Given the description of an element on the screen output the (x, y) to click on. 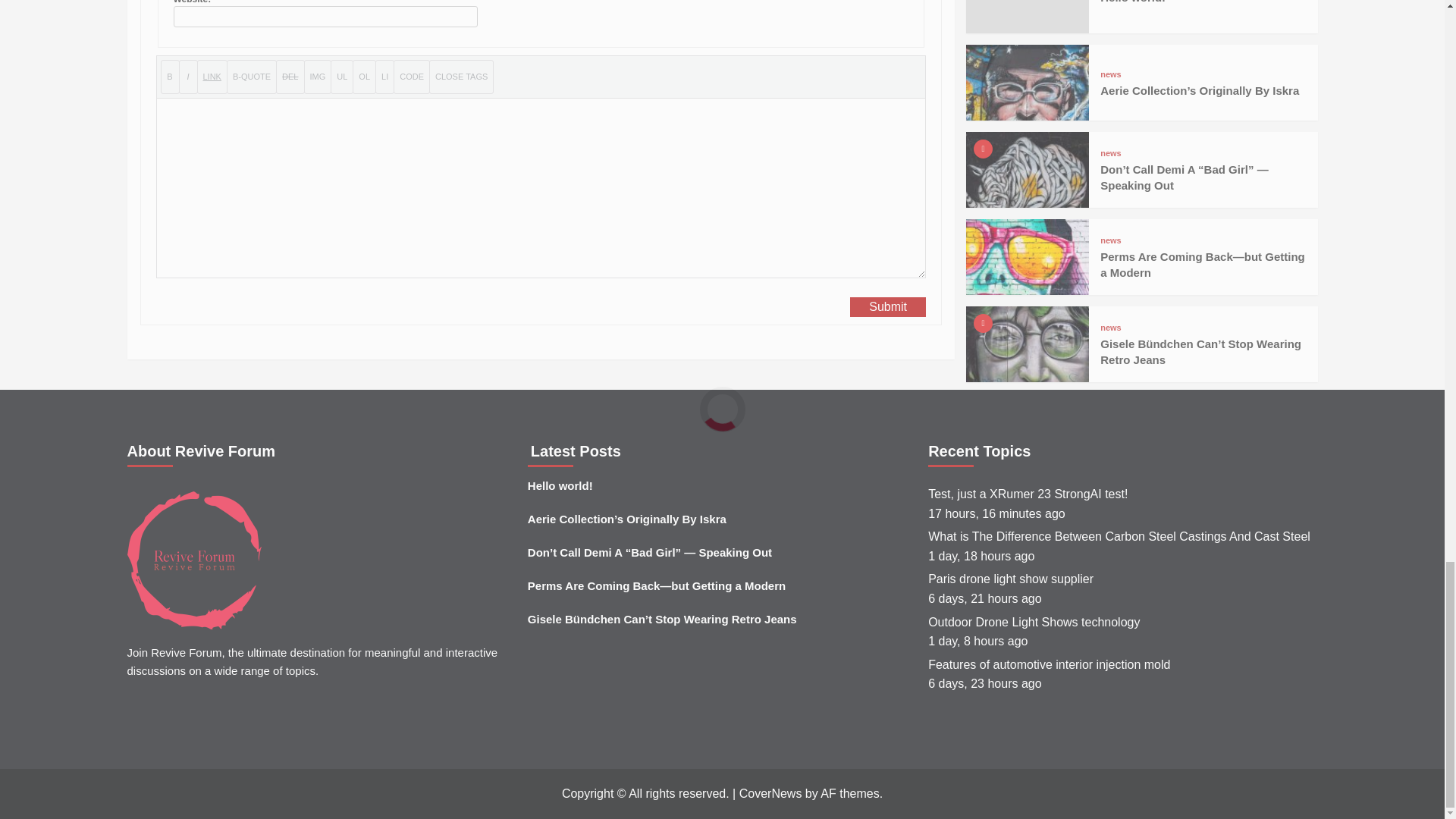
Close all open tags (461, 76)
close tags (461, 76)
b-quote (251, 76)
code (411, 76)
